Given the description of an element on the screen output the (x, y) to click on. 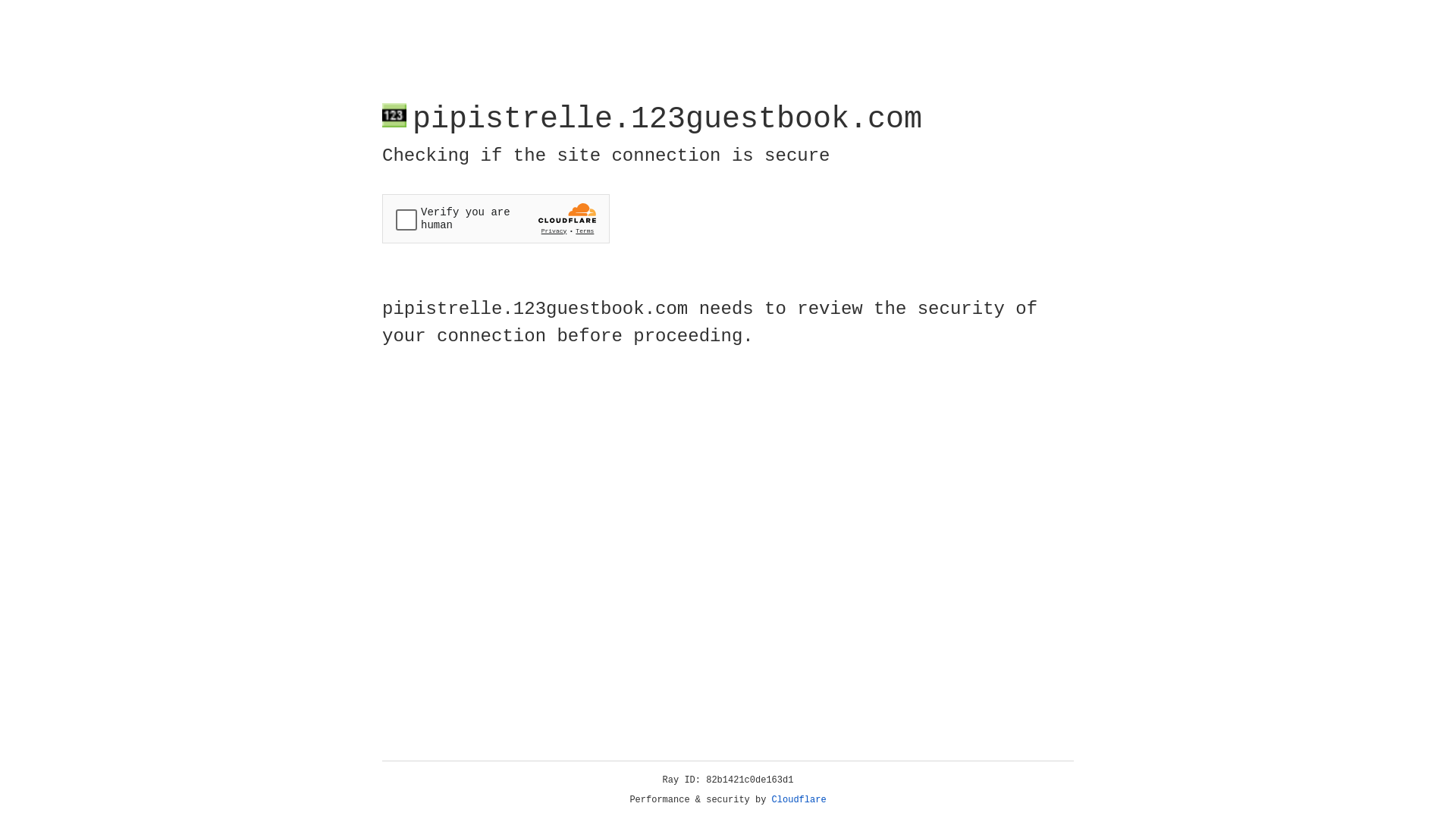
Widget containing a Cloudflare security challenge Element type: hover (495, 218)
Cloudflare Element type: text (798, 799)
